Given the description of an element on the screen output the (x, y) to click on. 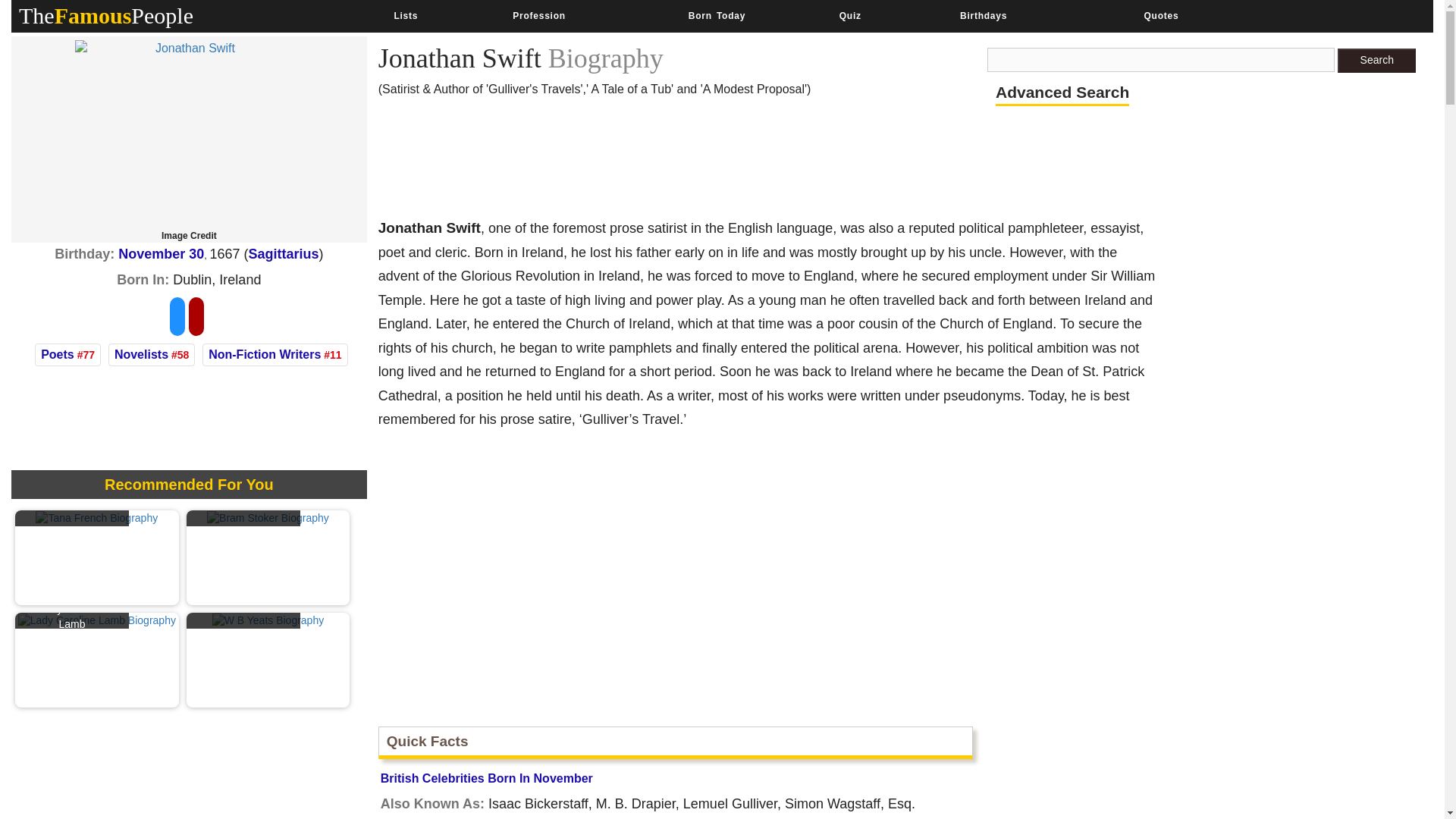
Jonathan Swift (188, 135)
Birthdays (983, 15)
Search (1376, 60)
Lady Caroline Lamb (96, 619)
TheFamousPeople (105, 15)
Born Today (715, 15)
Lists (405, 15)
Tana French (95, 517)
Non-Fiction Writers (264, 354)
Quotes (1160, 15)
